Given the description of an element on the screen output the (x, y) to click on. 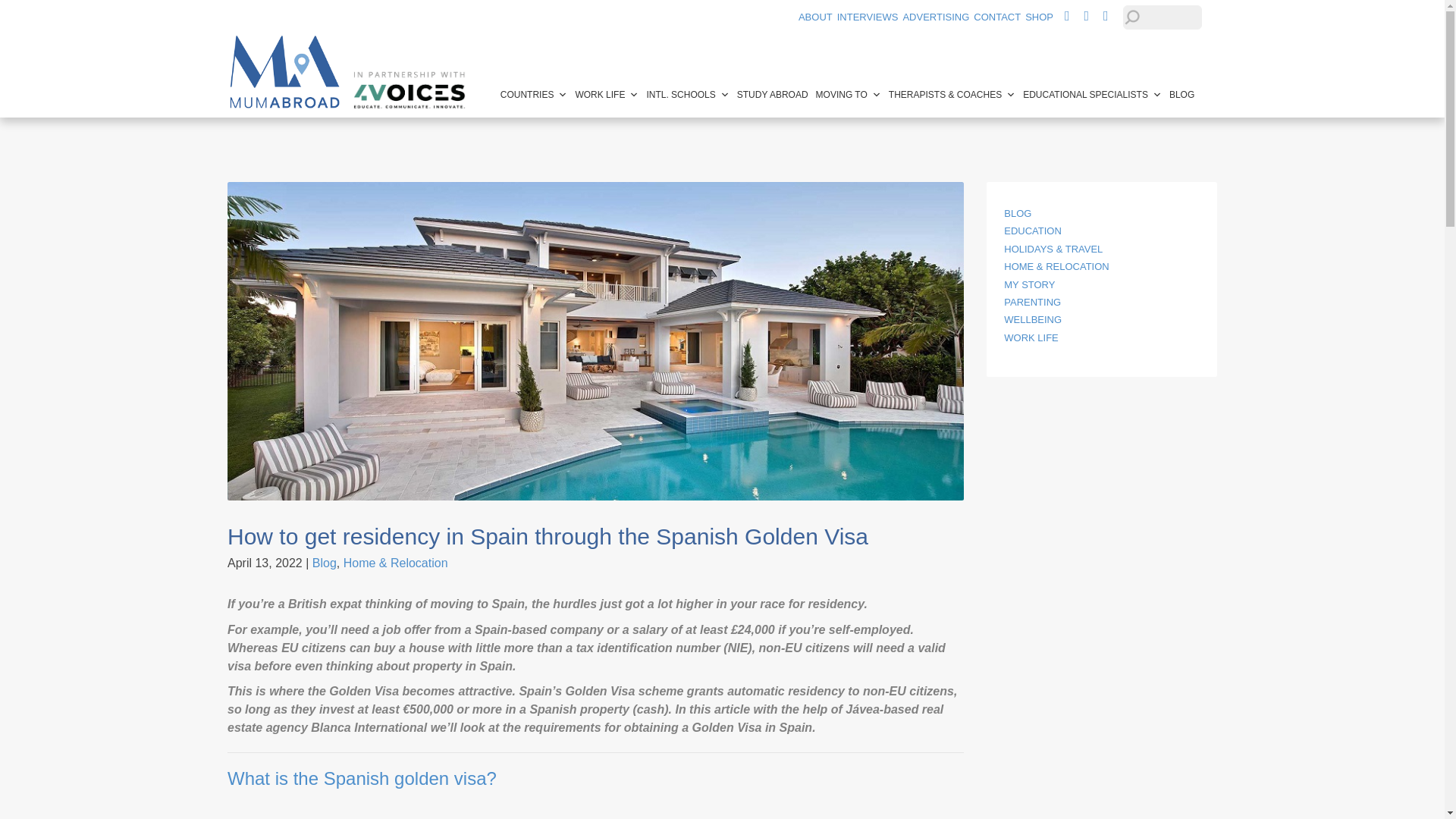
Search (25, 11)
CONTACT (997, 16)
Search for: (1162, 16)
ABOUT (814, 16)
INTERVIEWS (867, 16)
SHOP (1038, 16)
ADVERTISING (935, 16)
COUNTRIES (534, 94)
